Given the description of an element on the screen output the (x, y) to click on. 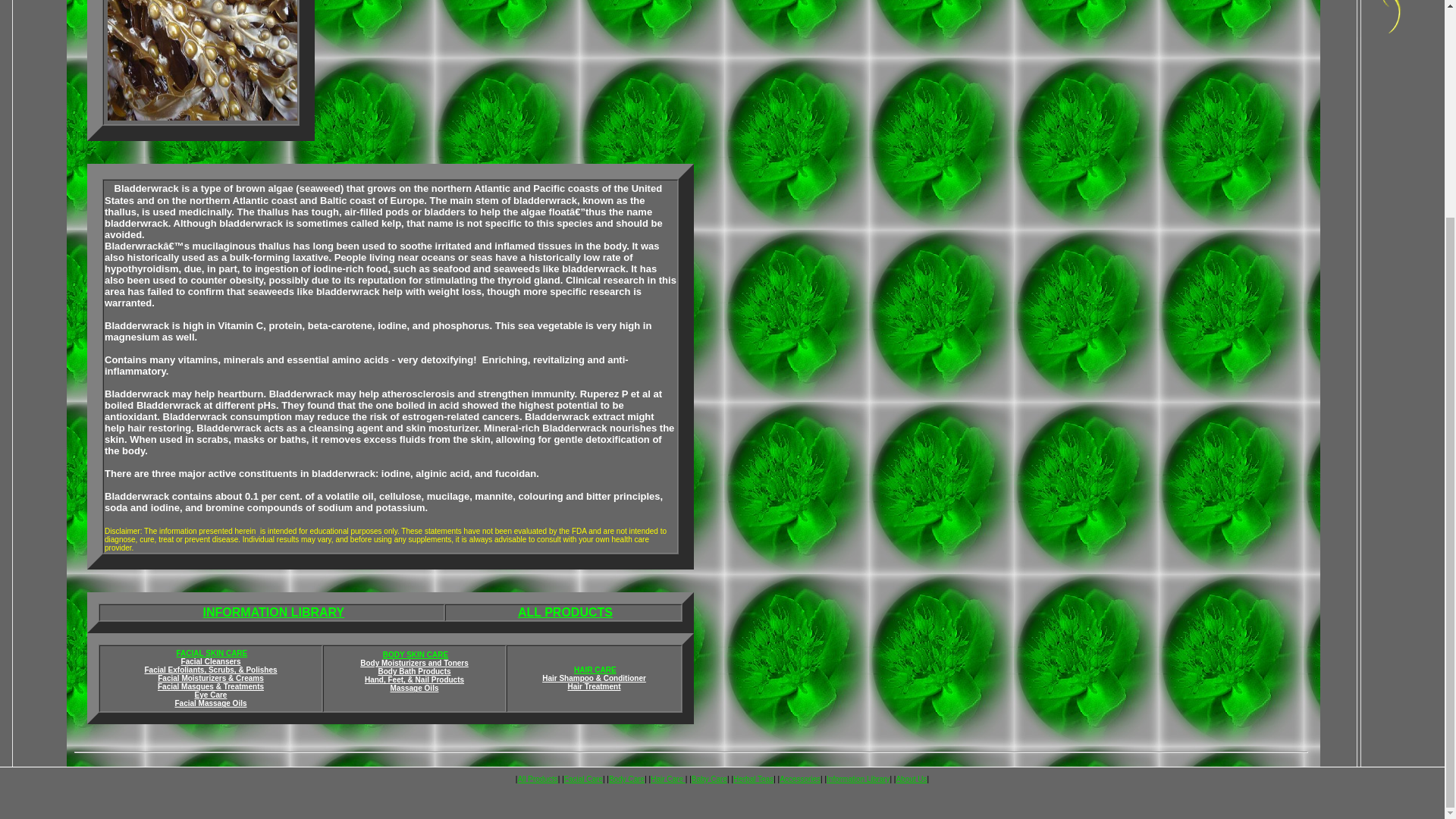
All Products (536, 778)
Facial Massage Oils (210, 703)
Hair Care (667, 778)
Hair Treatment (593, 686)
INFORMATION LIBRARY (274, 612)
Information Library (858, 778)
FACIAL SKIN CARE (211, 653)
Facial Cleansers (210, 661)
Baby Care (708, 778)
ALL PRODUCTS (565, 612)
